Given the description of an element on the screen output the (x, y) to click on. 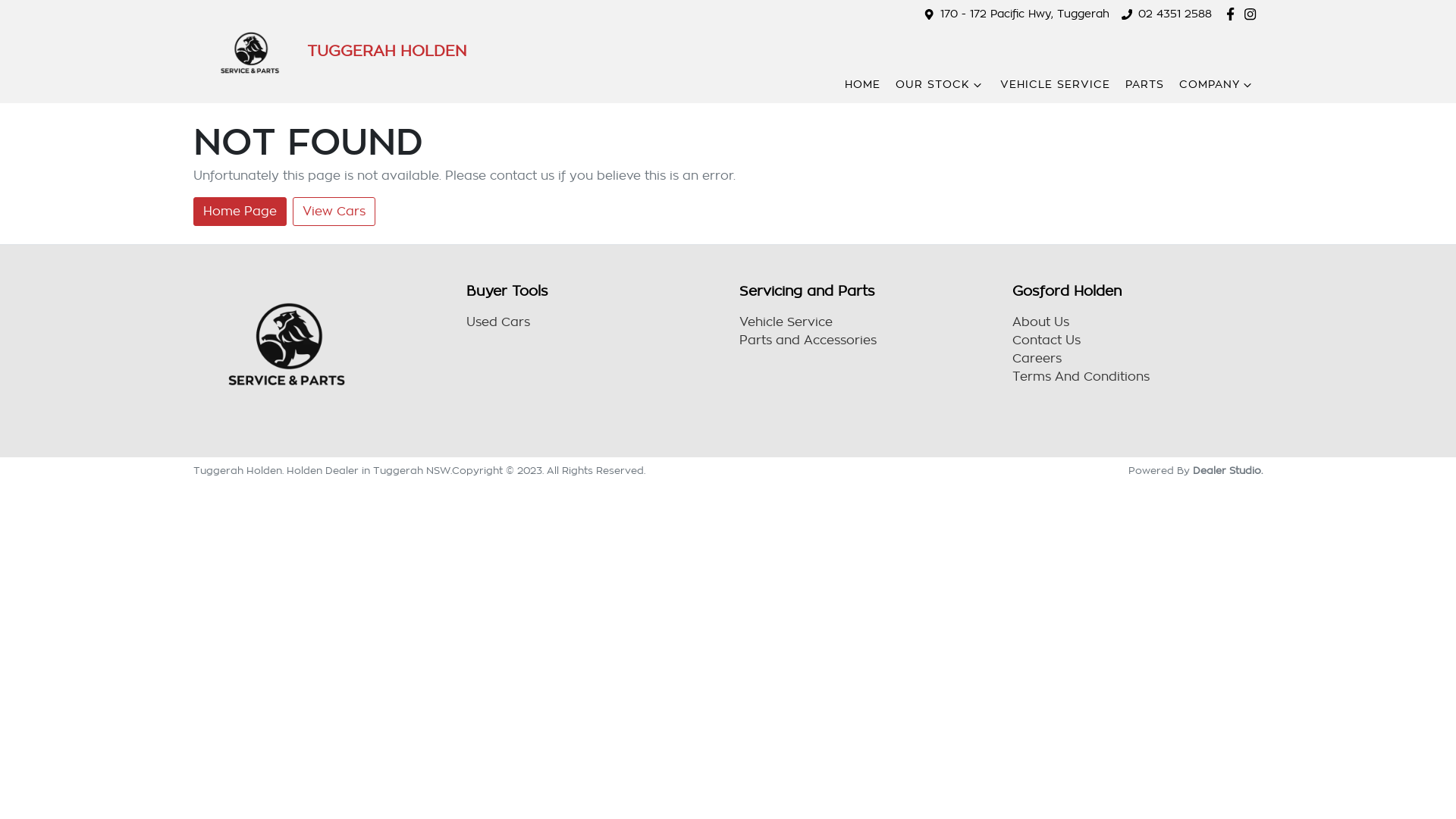
TUGGERAH HOLDEN Element type: text (329, 51)
170 - 172 Pacific Hwy, Tuggerah Element type: text (1024, 13)
COMPANY Element type: text (1216, 84)
HOME Element type: text (862, 84)
Terms And Conditions Element type: text (1080, 376)
Parts and Accessories Element type: text (807, 340)
OUR STOCK Element type: text (940, 84)
Contact Us Element type: text (1046, 340)
PARTS Element type: text (1144, 84)
Vehicle Service Element type: text (785, 322)
Dealer Studio. Element type: text (1227, 470)
View Cars Element type: text (333, 211)
Used Cars Element type: text (498, 322)
Home Page Element type: text (239, 211)
VEHICLE SERVICE Element type: text (1055, 84)
About Us Element type: text (1040, 322)
02 4351 2588 Element type: text (1174, 13)
Careers Element type: text (1036, 358)
